Given the description of an element on the screen output the (x, y) to click on. 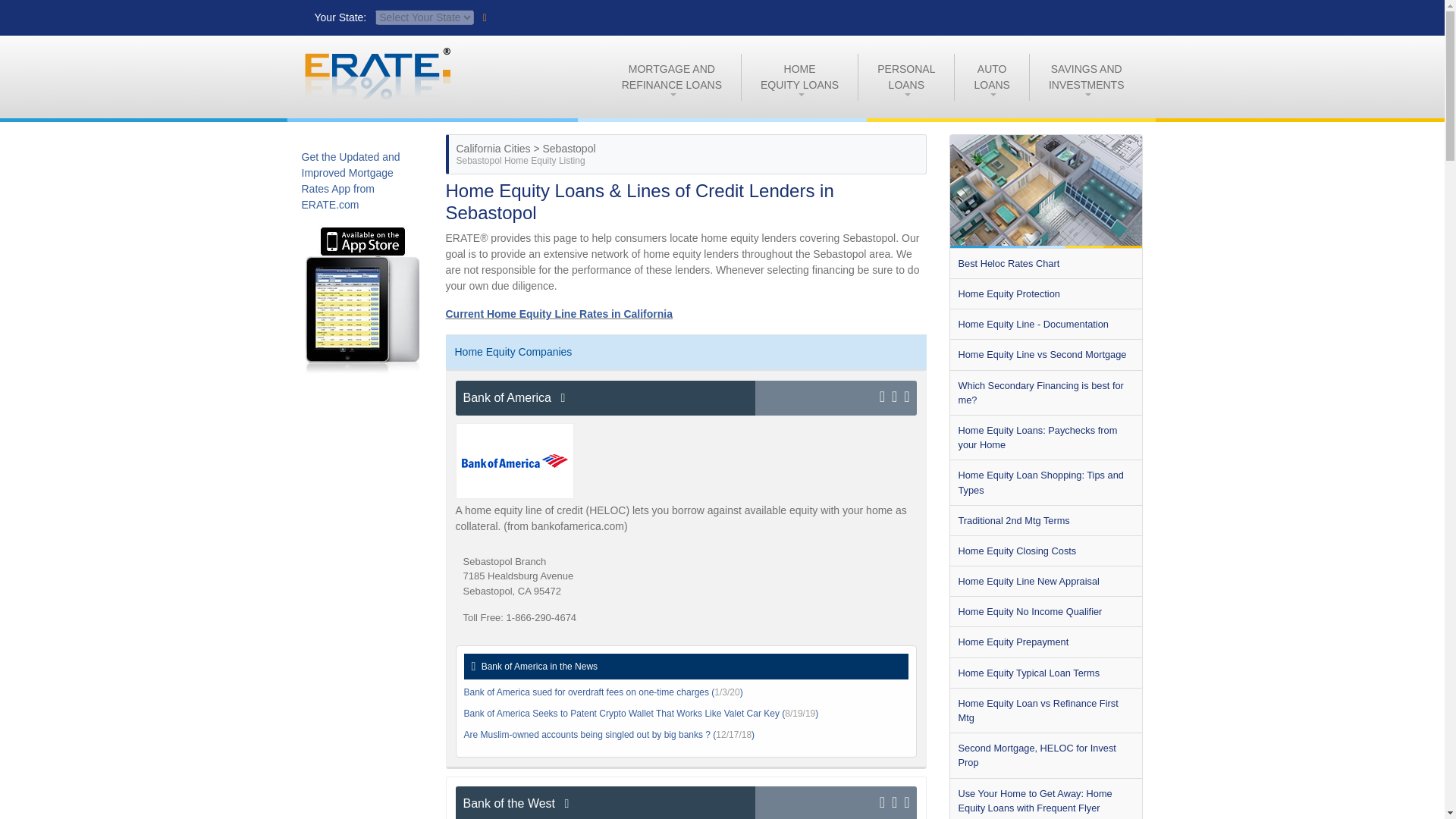
Current Home Equity Line Rates in California (558, 313)
Bank of the West (604, 802)
Bank of America (1085, 76)
Bank of America (906, 76)
Current Home Equity Line Rates in California (799, 76)
Bank of the West (604, 397)
